Given the description of an element on the screen output the (x, y) to click on. 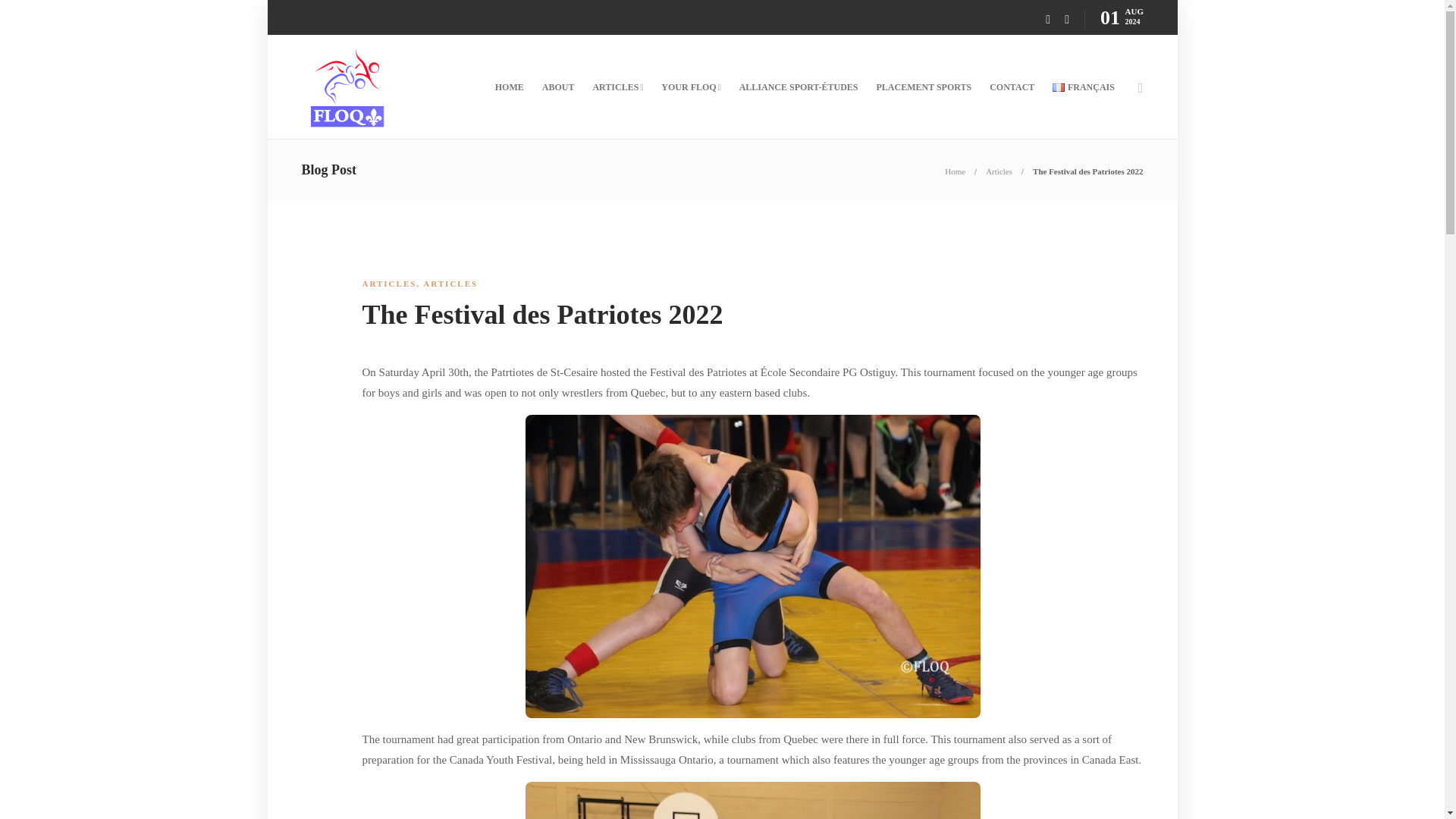
The Festival des Patriotes 2022 (1087, 171)
Home (954, 171)
Home (954, 171)
YOUR FLOQ (690, 86)
Articles (998, 171)
PLACEMENT SPORTS (923, 86)
